Given the description of an element on the screen output the (x, y) to click on. 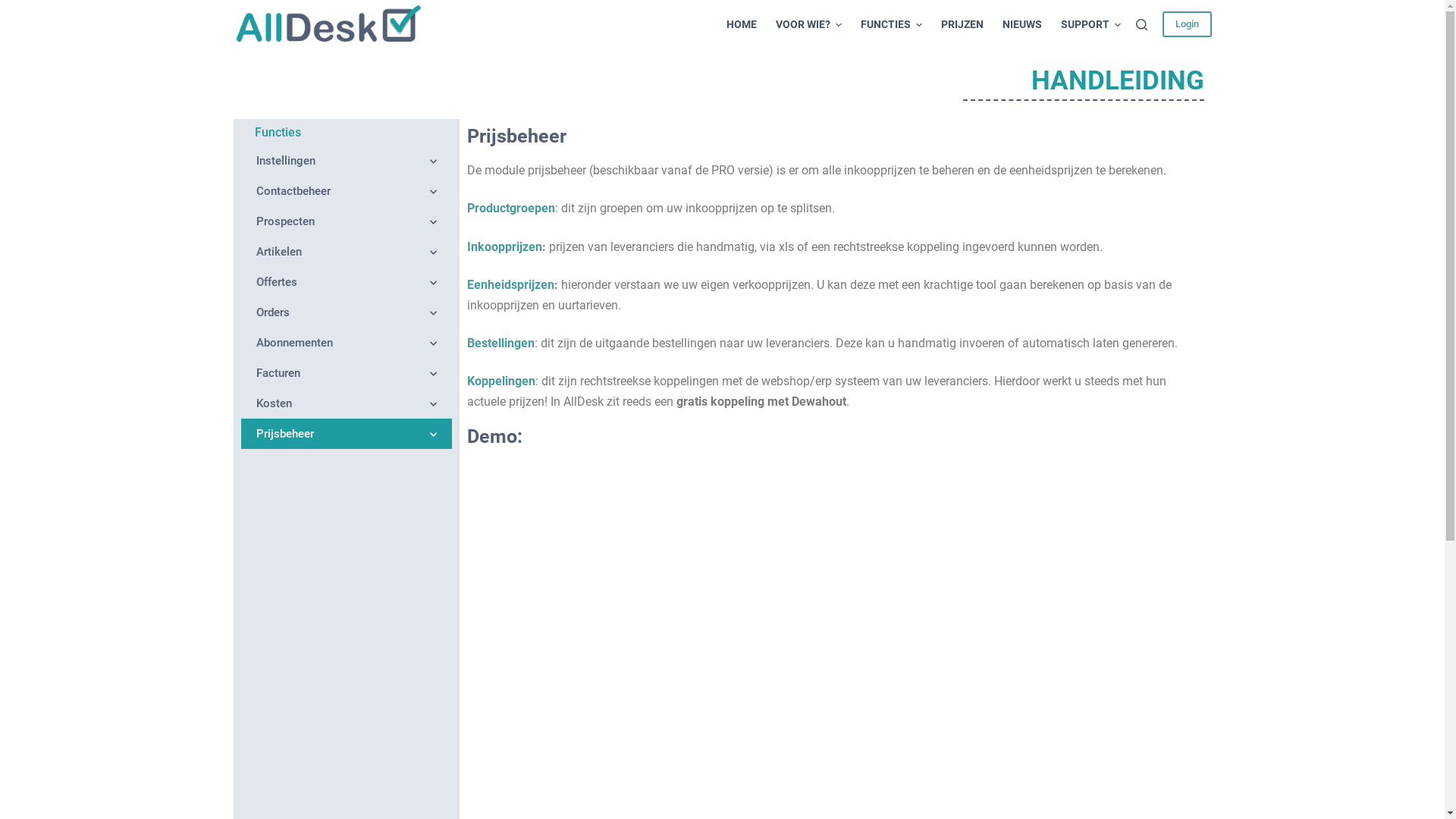
Login Element type: text (1186, 24)
Instellingen Element type: text (346, 160)
Orders Element type: text (346, 312)
Kosten Element type: text (346, 403)
Eenheidsprijzen Element type: text (510, 284)
PRIJZEN Element type: text (961, 24)
Inkoopprijzen Element type: text (504, 246)
VOOR WIE? Element type: text (807, 24)
Koppelingen Element type: text (501, 380)
Abonnementen Element type: text (346, 342)
Contactbeheer Element type: text (346, 190)
Prijsbeheer Element type: text (346, 433)
Productgroepen Element type: text (511, 207)
SUPPORT Element type: text (1085, 24)
HOME Element type: text (746, 24)
Doorgaan naar artikel Element type: text (15, 7)
Offertes Element type: text (346, 281)
NIEUWS Element type: text (1021, 24)
Prospecten Element type: text (346, 221)
Bestellingen Element type: text (500, 342)
Artikelen Element type: text (346, 251)
FUNCTIES Element type: text (890, 24)
Facturen Element type: text (346, 372)
